Given the description of an element on the screen output the (x, y) to click on. 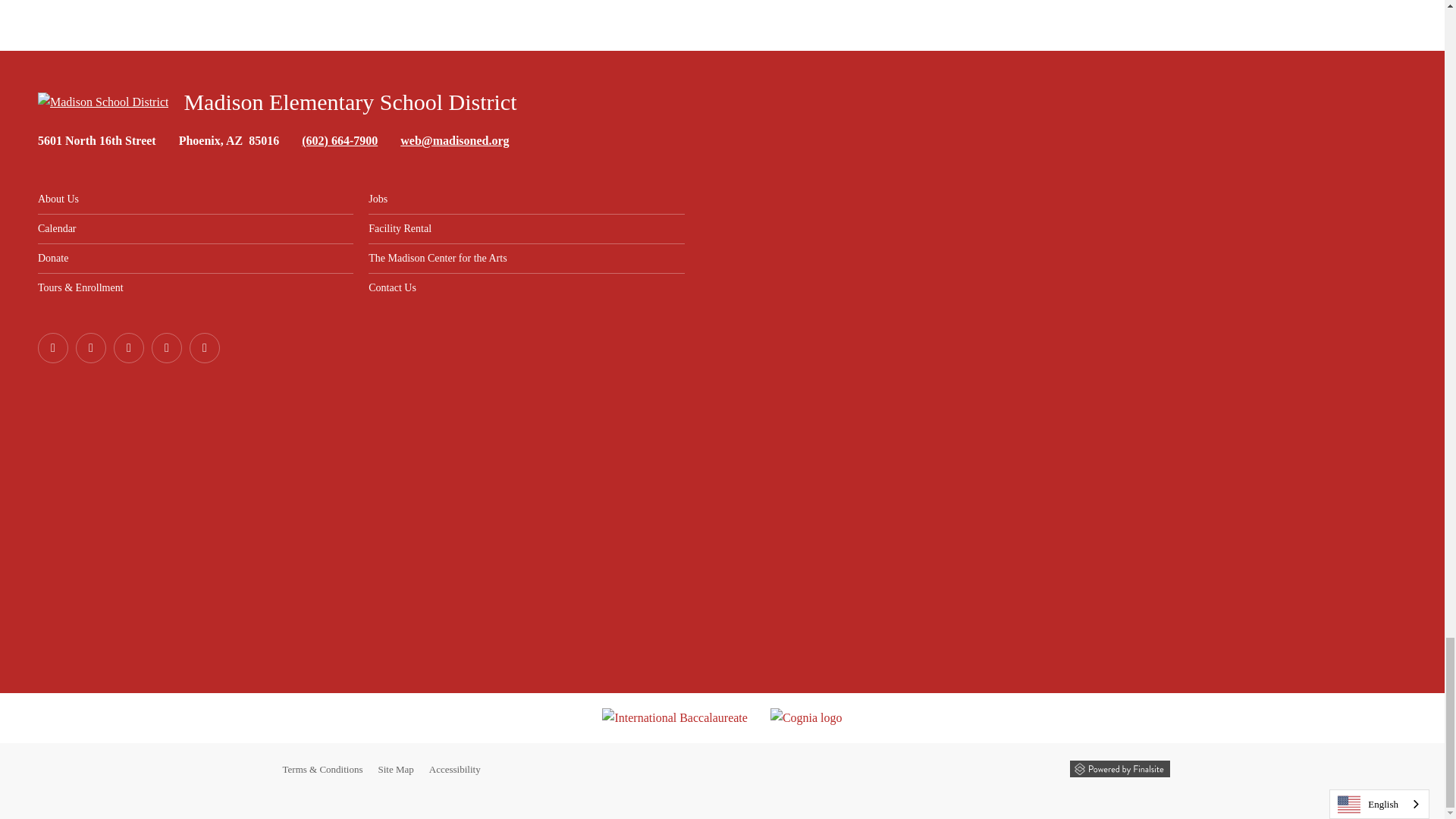
Email (454, 140)
Powered by Finalsite opens in a new window (1118, 768)
